Given the description of an element on the screen output the (x, y) to click on. 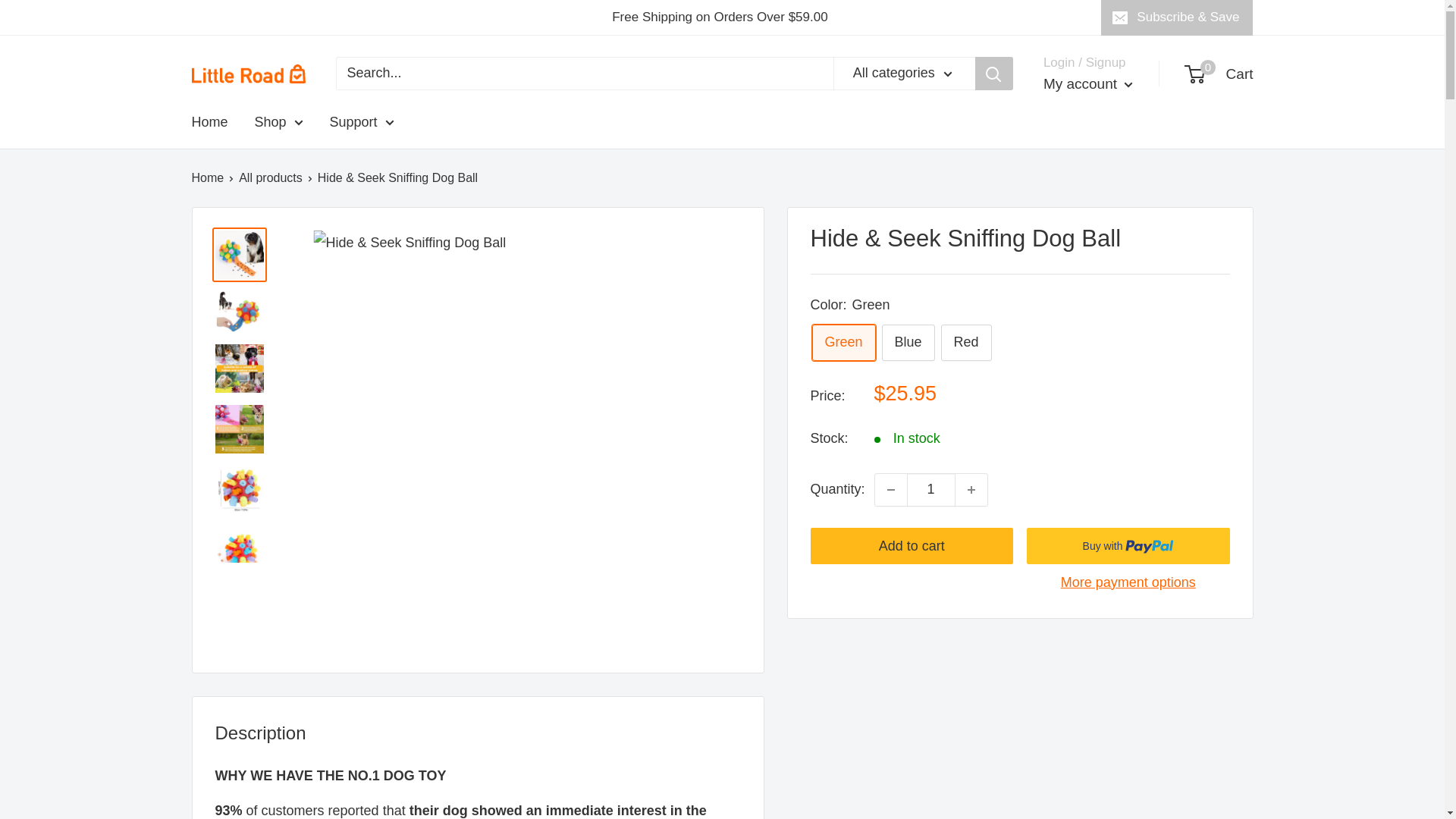
Red (965, 342)
Little Road (247, 74)
Decrease quantity by 1 (891, 490)
Home (208, 122)
Home (207, 177)
Green (842, 342)
Support (362, 122)
1 (931, 490)
Increase quantity by 1 (1219, 73)
My account (971, 490)
Shop (1087, 83)
Blue (278, 122)
